Given the description of an element on the screen output the (x, y) to click on. 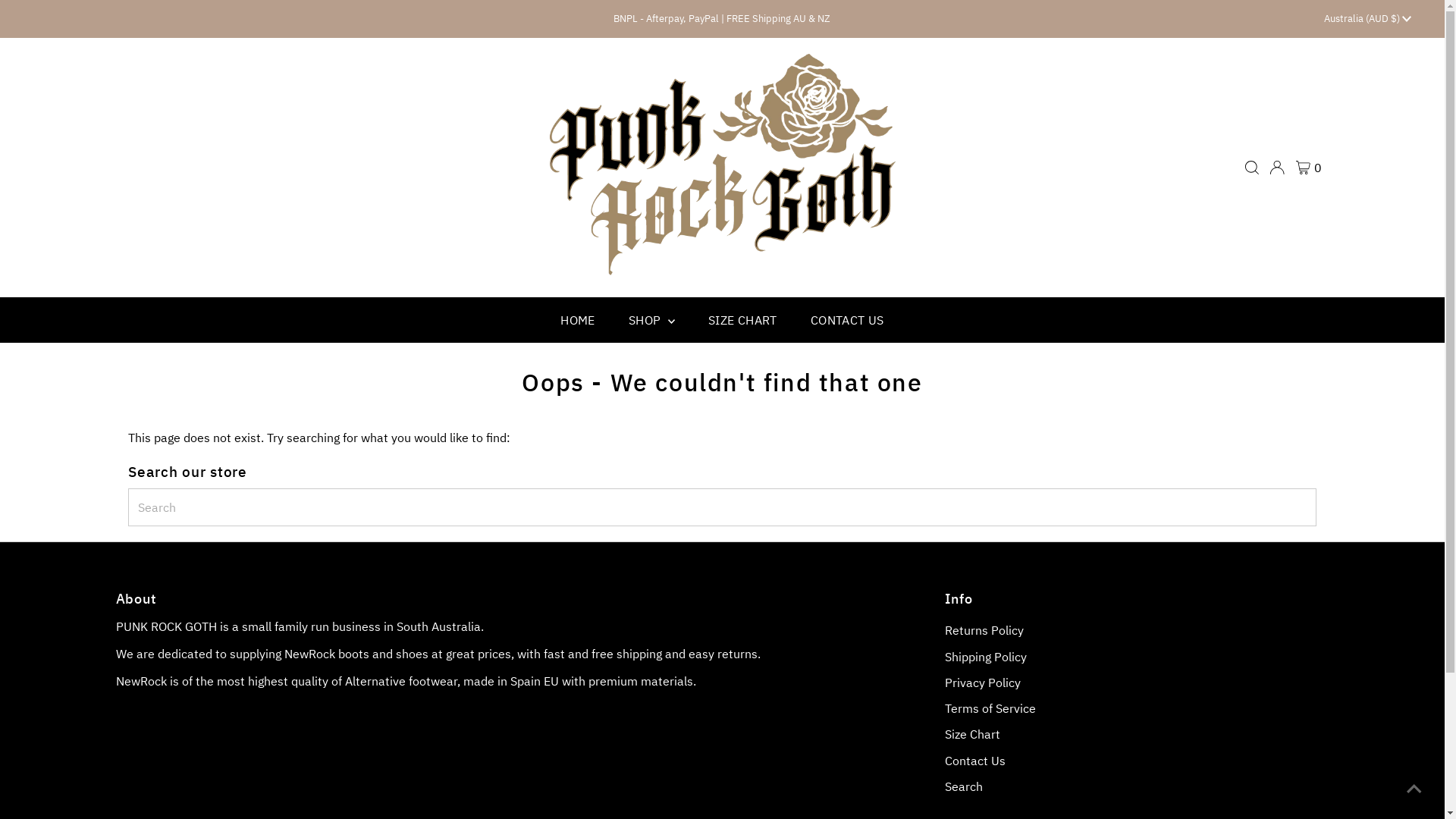
Shipping Policy Element type: text (985, 656)
SIZE CHART Element type: text (742, 319)
Terms of Service Element type: text (989, 707)
Returns Policy Element type: text (983, 629)
Contact Us Element type: text (974, 760)
Size Chart Element type: text (972, 733)
HOME Element type: text (577, 319)
Privacy Policy Element type: text (982, 682)
CONTACT US Element type: text (847, 319)
Search Element type: text (963, 785)
0 Element type: text (1308, 167)
